Given the description of an element on the screen output the (x, y) to click on. 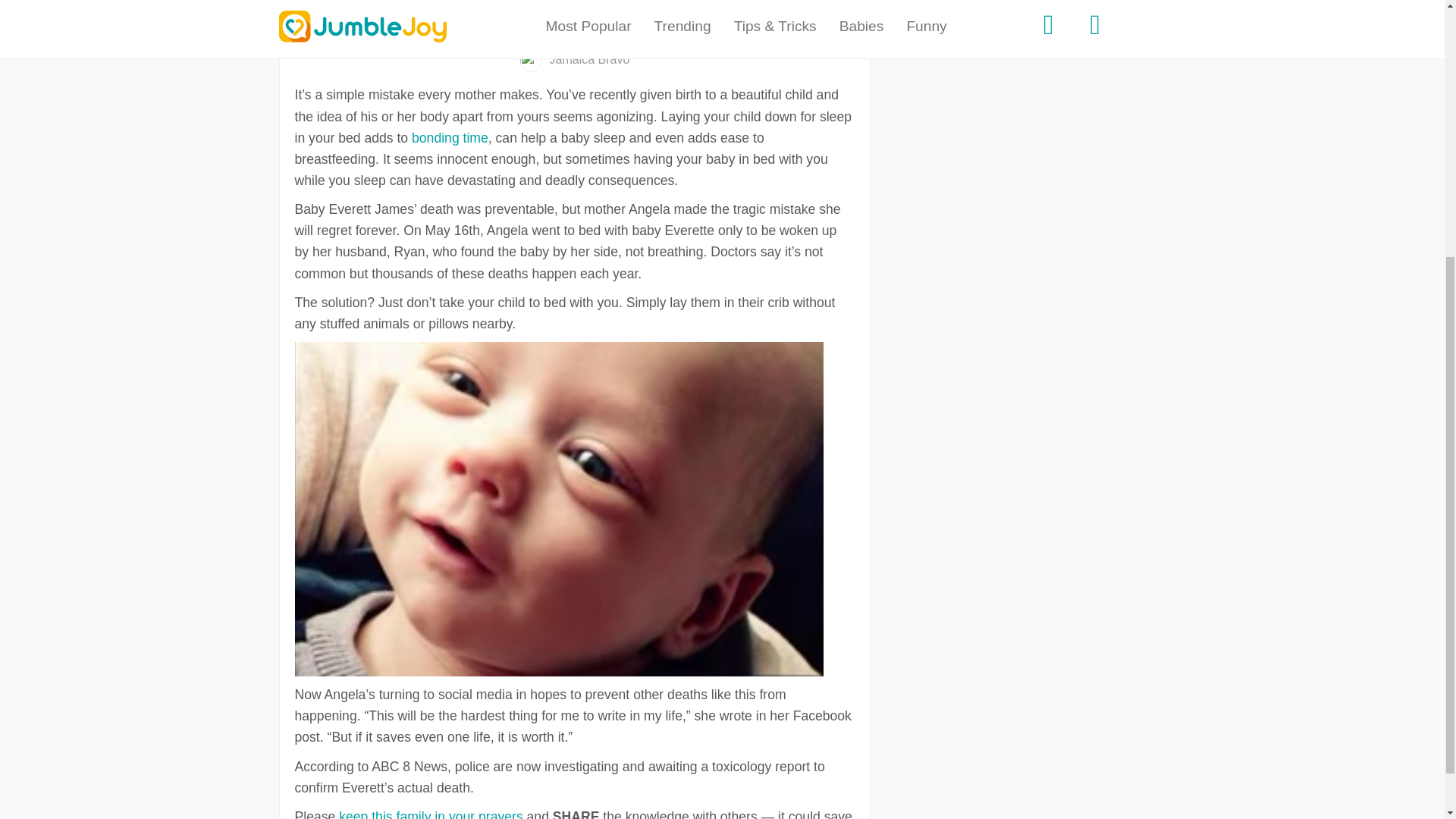
bonding time (449, 137)
bonding time (449, 137)
